Given the description of an element on the screen output the (x, y) to click on. 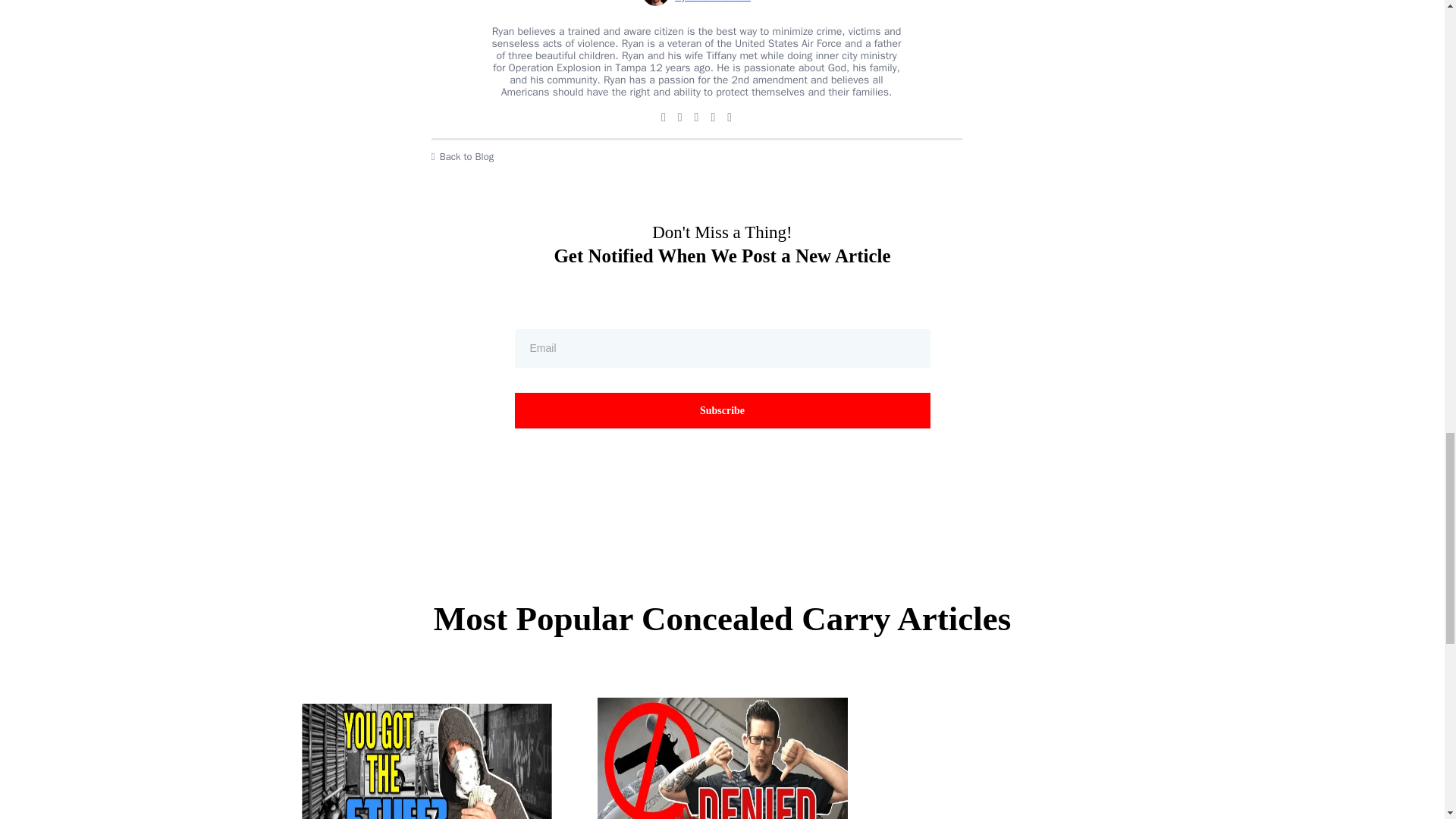
Back to Blog (695, 156)
Ryan G. Thomas (696, 7)
Subscribe (721, 410)
